Given the description of an element on the screen output the (x, y) to click on. 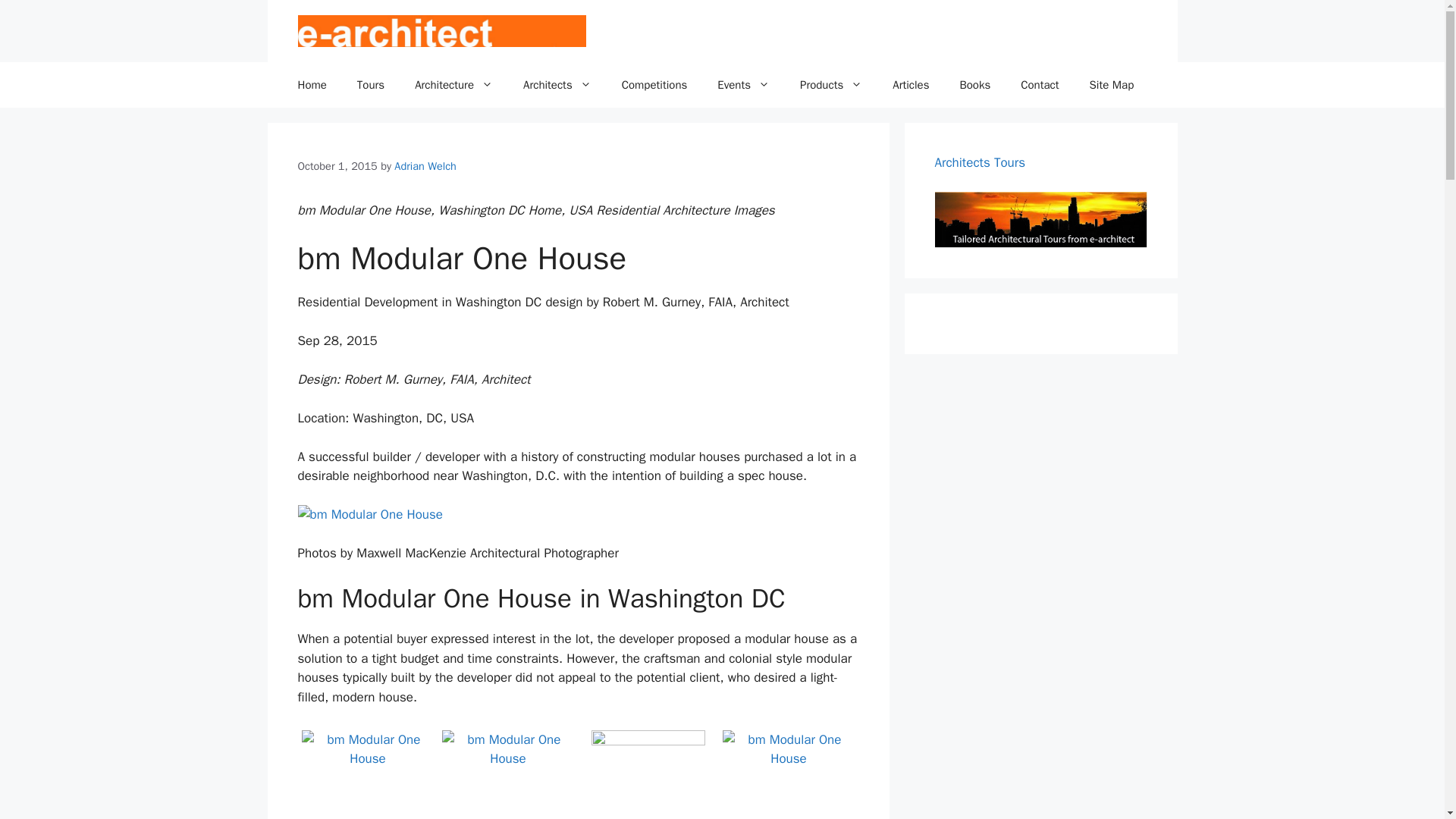
Adrian Welch (425, 165)
Books (974, 84)
Architecture (453, 84)
View all posts by Adrian Welch (425, 165)
Articles (910, 84)
Competitions (655, 84)
Products (830, 84)
Home (311, 84)
Home (311, 84)
Site Map (1112, 84)
Tours (370, 84)
Events (742, 84)
Architects (557, 84)
Contact (1040, 84)
